Given the description of an element on the screen output the (x, y) to click on. 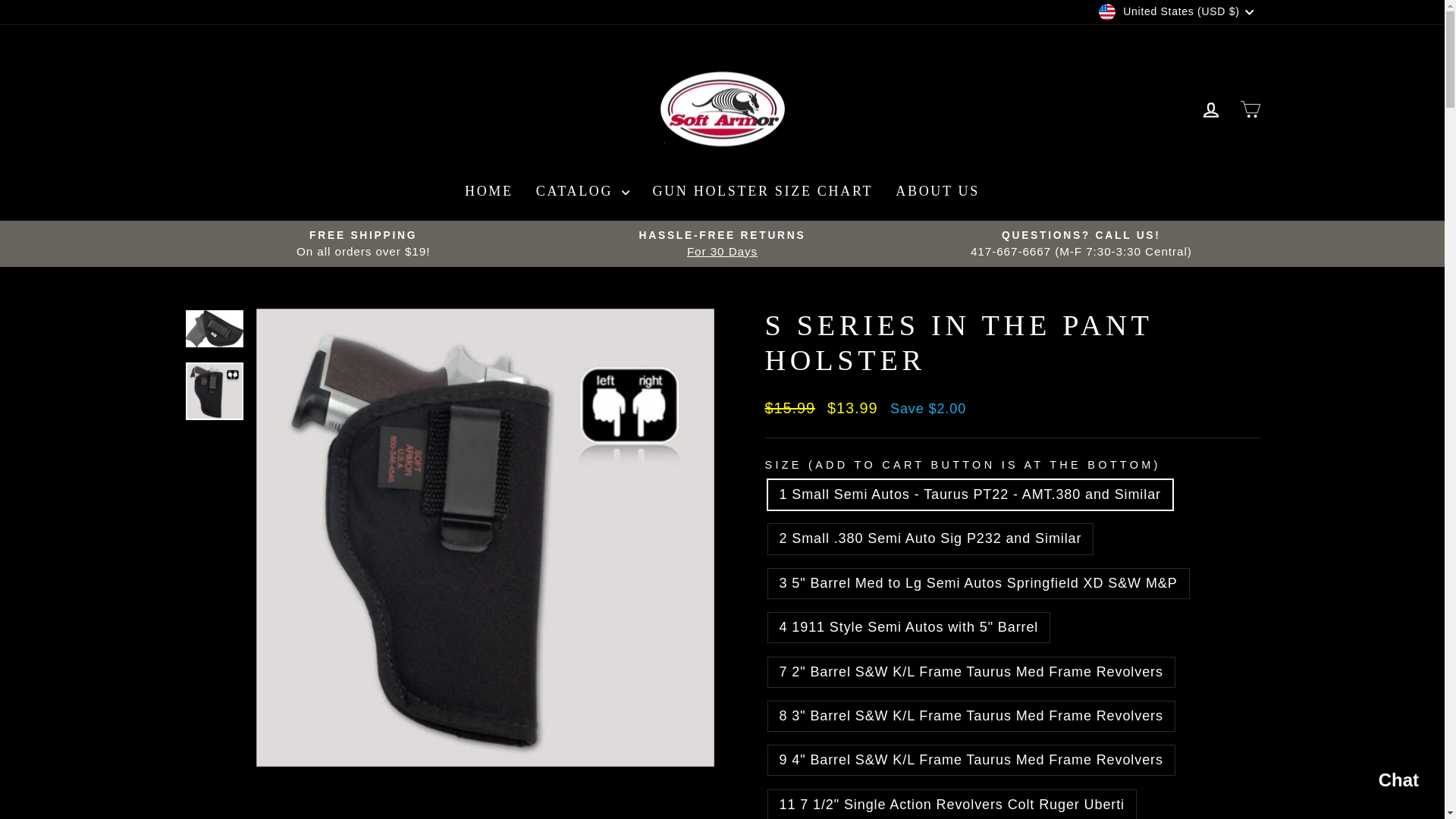
ACCOUNT (1210, 109)
Shopify online store chat (1383, 781)
